Given the description of an element on the screen output the (x, y) to click on. 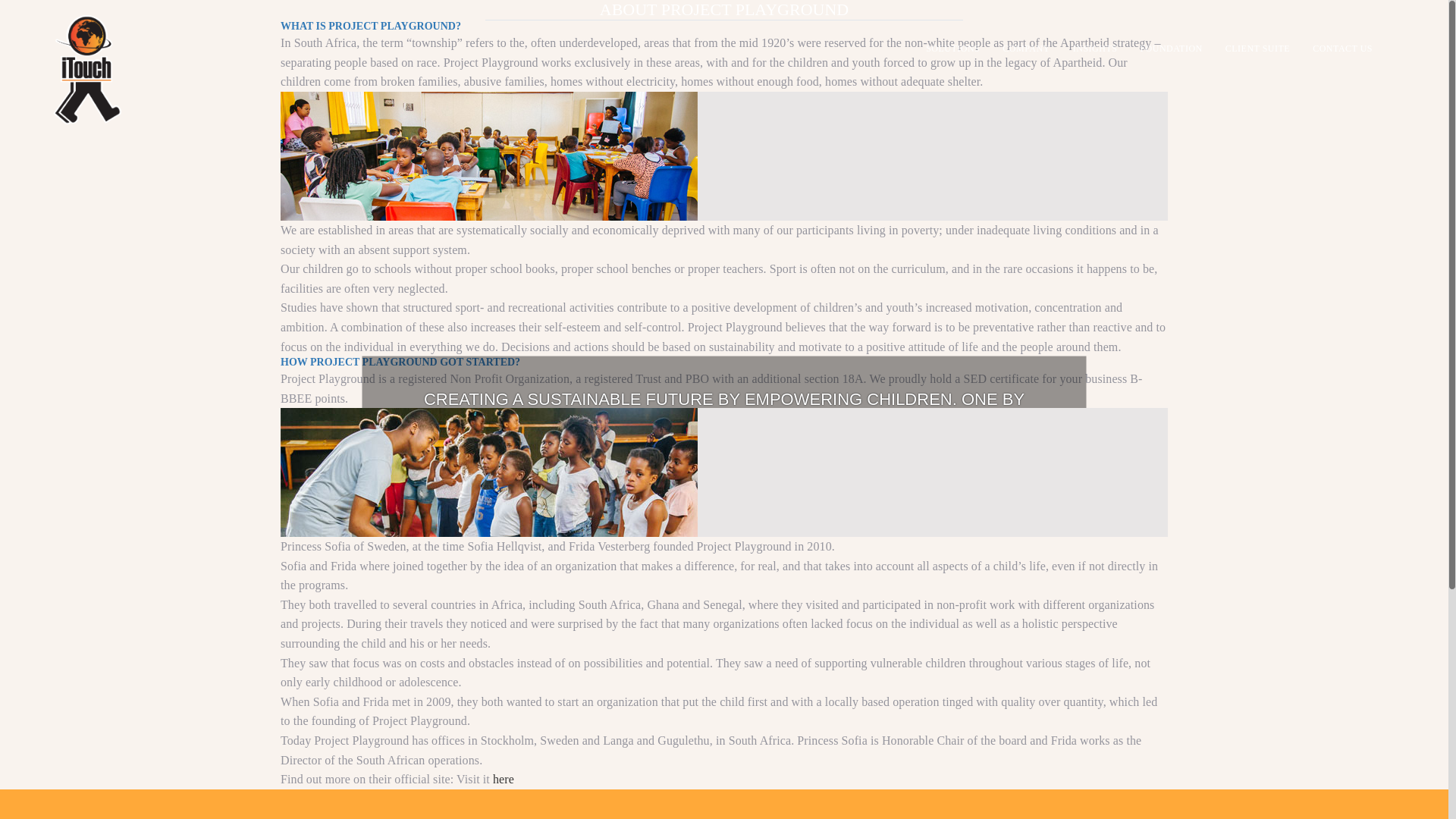
FOUNDATION (1171, 48)
SOLUTIONS (952, 48)
CONTACT US (1343, 48)
COMPANY (1026, 48)
here (503, 779)
INSIGHTS (1095, 48)
CLIENT SUITE (1257, 48)
